Given the description of an element on the screen output the (x, y) to click on. 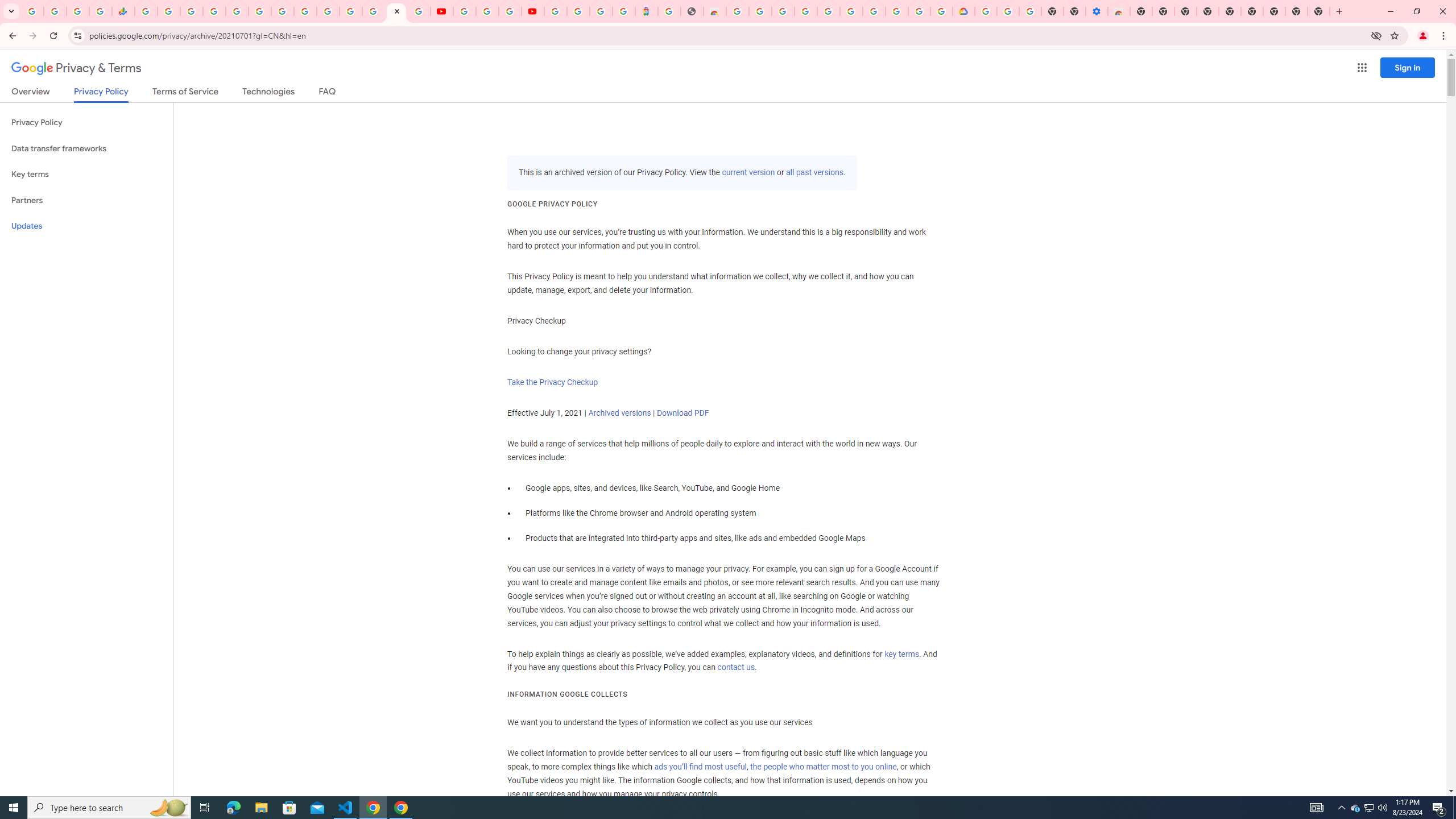
Create your Google Account (510, 11)
Google Workspace Admin Community (32, 11)
current version (748, 172)
Chrome Web Store - Accessibility extensions (1118, 11)
